Given the description of an element on the screen output the (x, y) to click on. 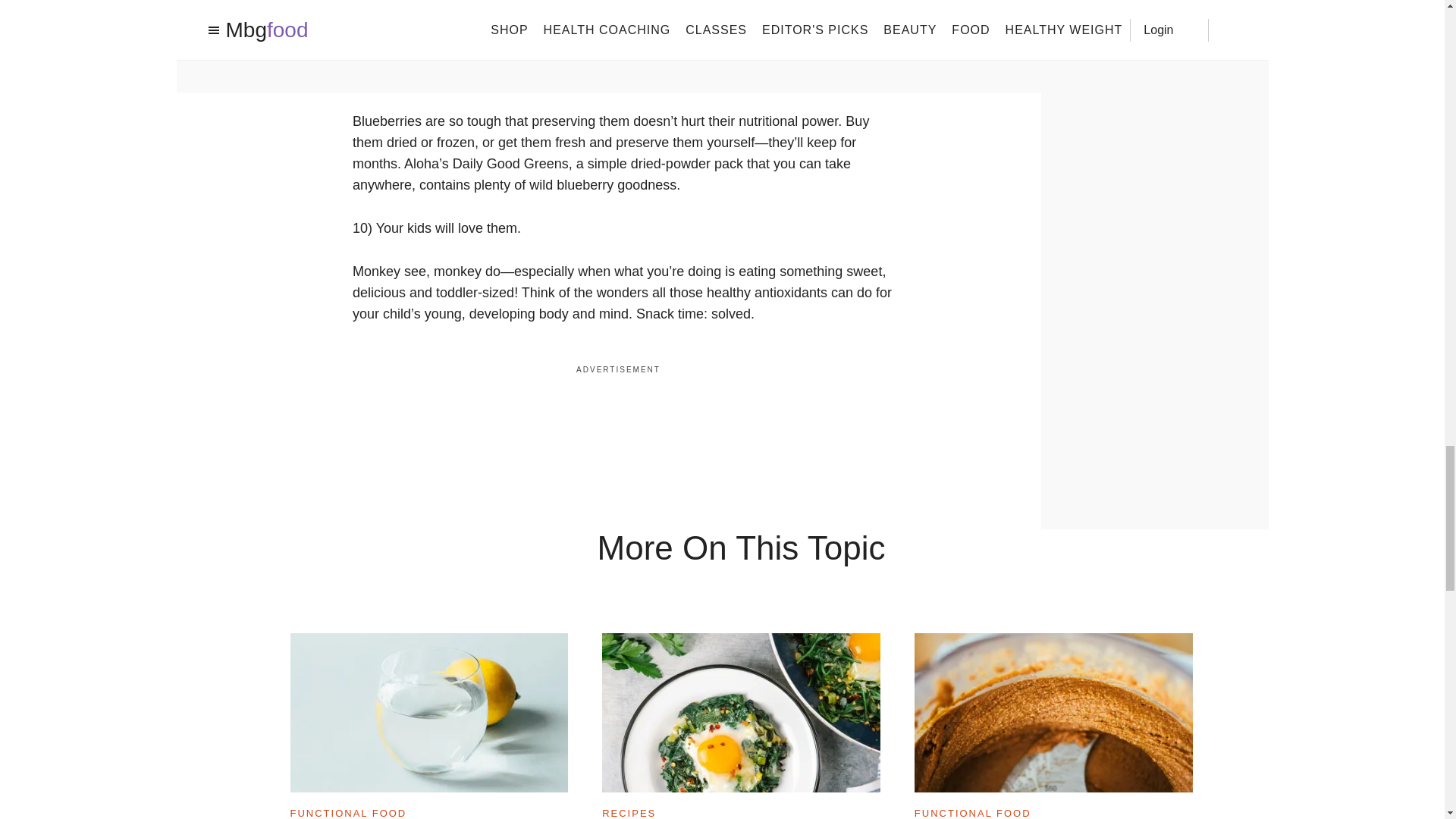
FUNCTIONAL FOOD (972, 812)
RECIPES (629, 812)
FUNCTIONAL FOOD (347, 812)
